Given the description of an element on the screen output the (x, y) to click on. 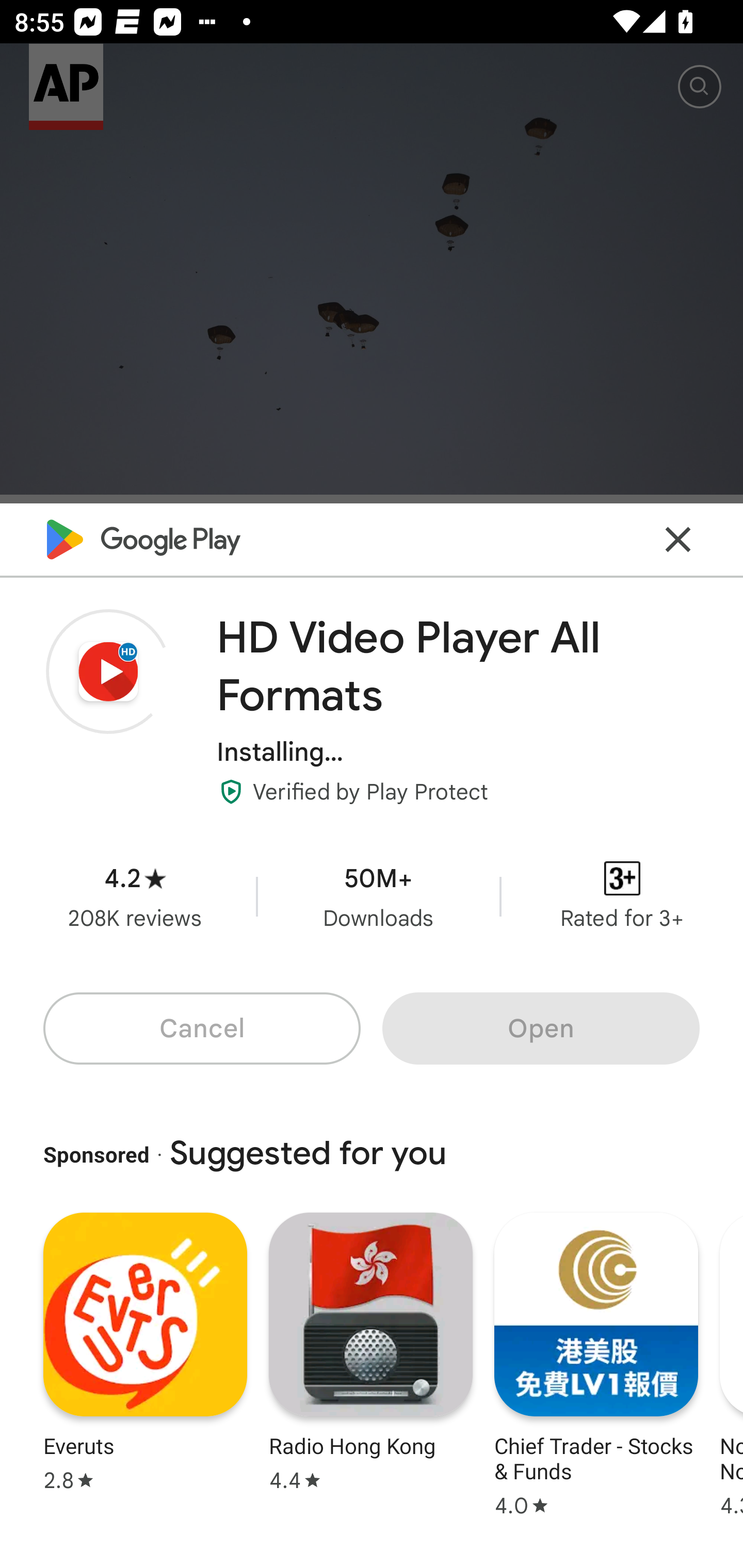
Close (677, 539)
App: Everuts
Star rating: 2.8


 (144, 1362)
App: Radio Hong Kong
Star rating: 4.4


 (370, 1362)
